Given the description of an element on the screen output the (x, y) to click on. 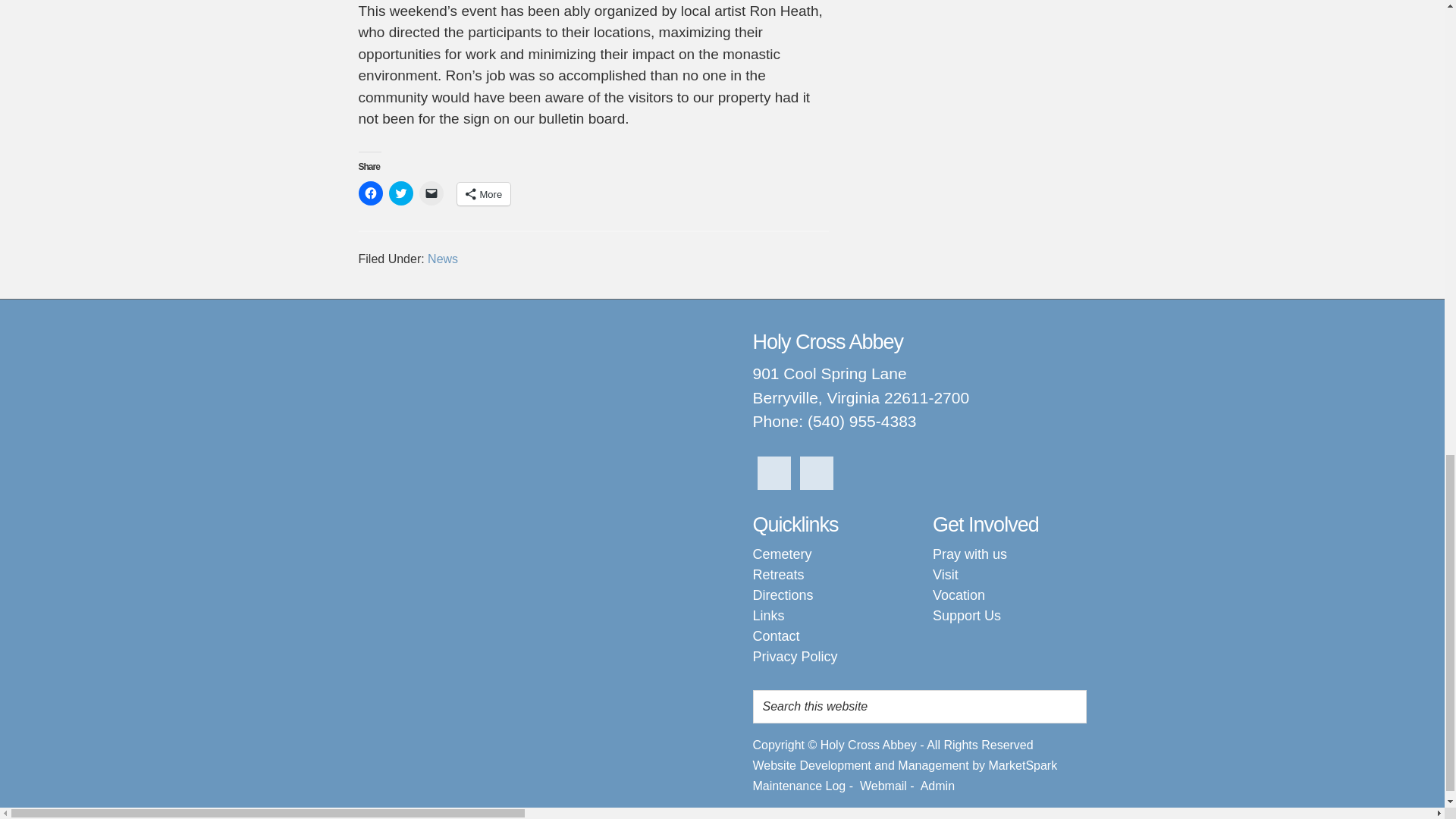
Click to share on Facebook (369, 192)
Click to email a link to a friend (430, 192)
Click to share on Twitter (400, 192)
